Given the description of an element on the screen output the (x, y) to click on. 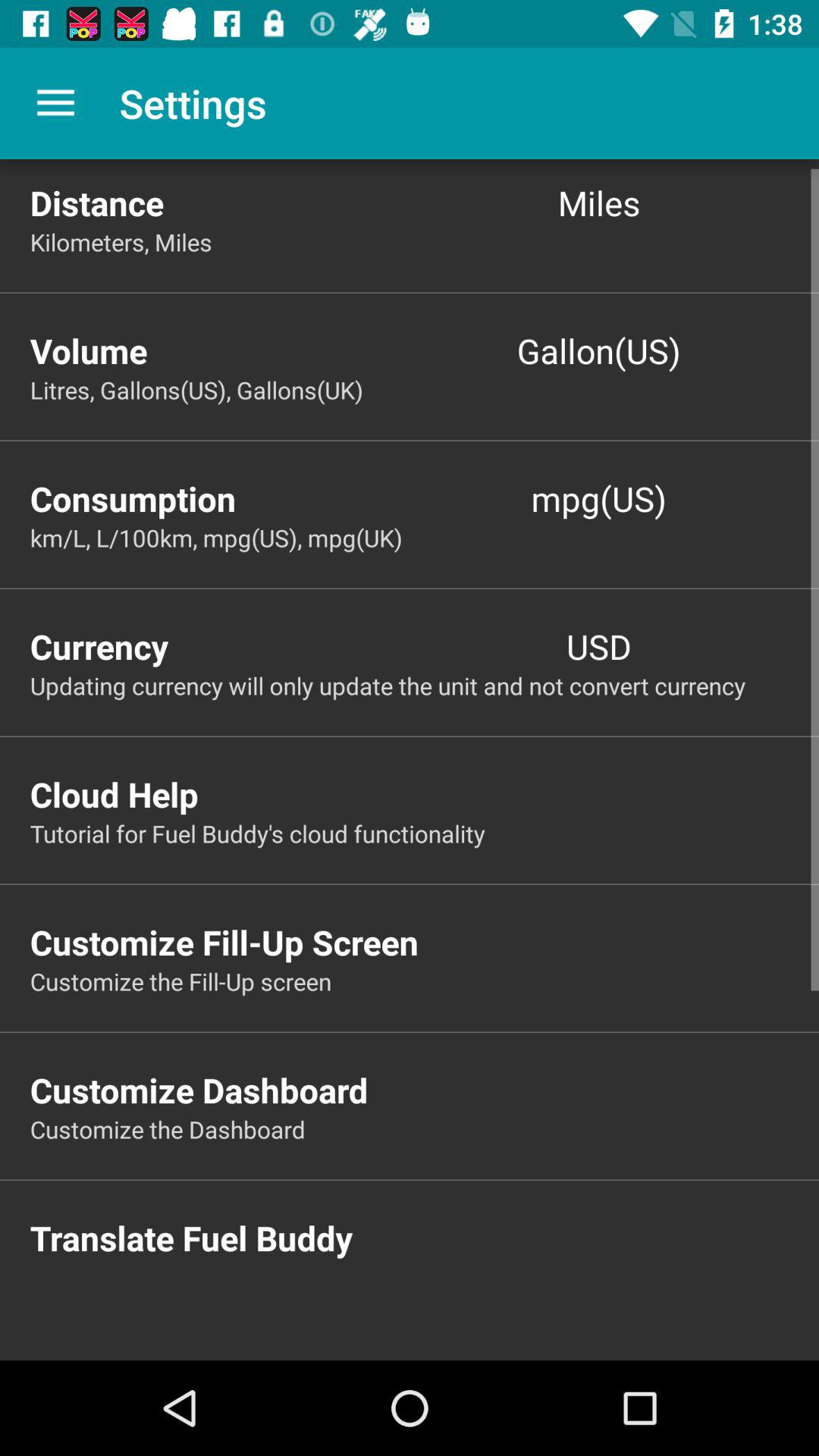
open item below the litres gallons us (219, 498)
